Given the description of an element on the screen output the (x, y) to click on. 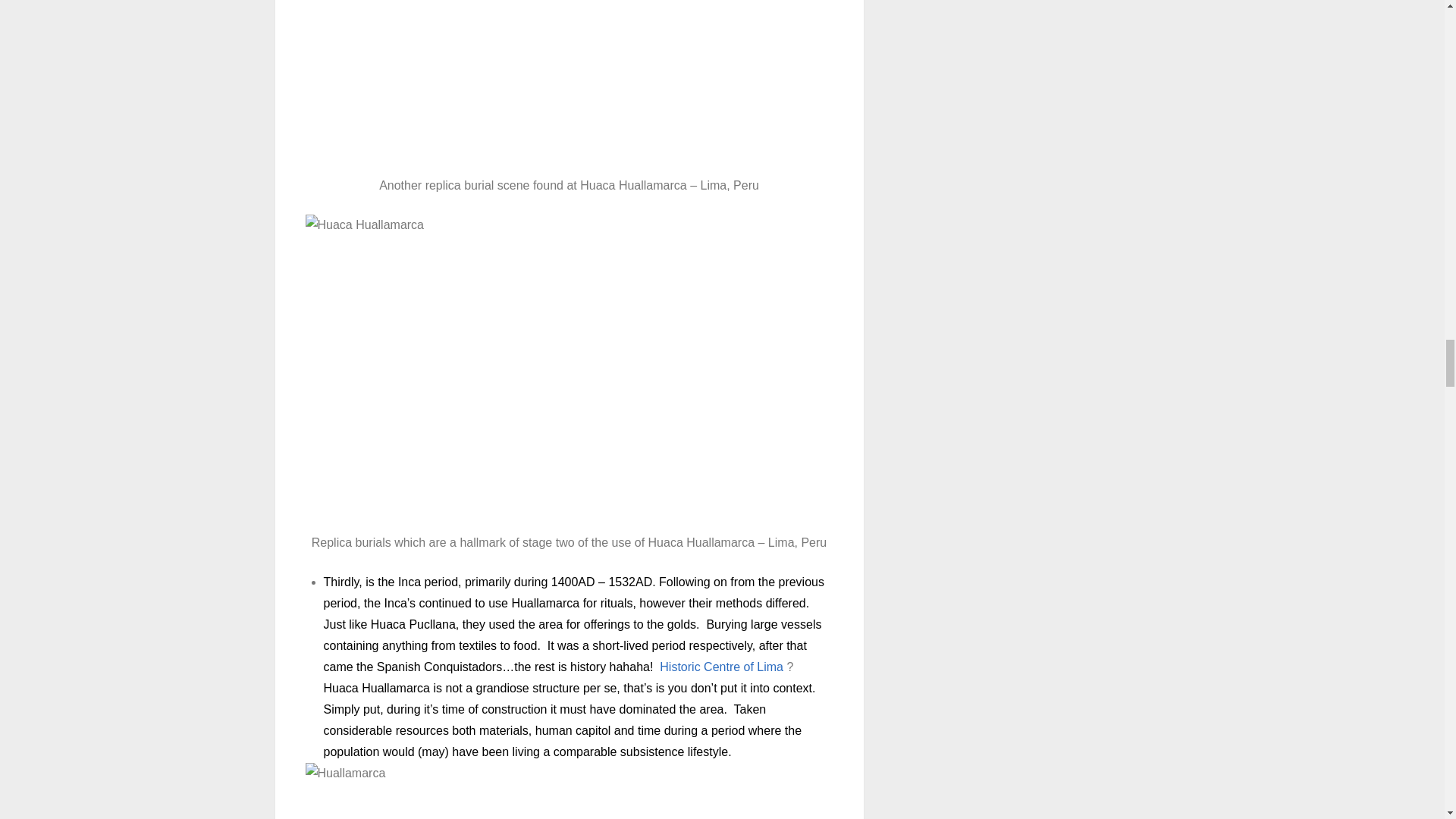
Historic Centre of Lima (721, 666)
